Given the description of an element on the screen output the (x, y) to click on. 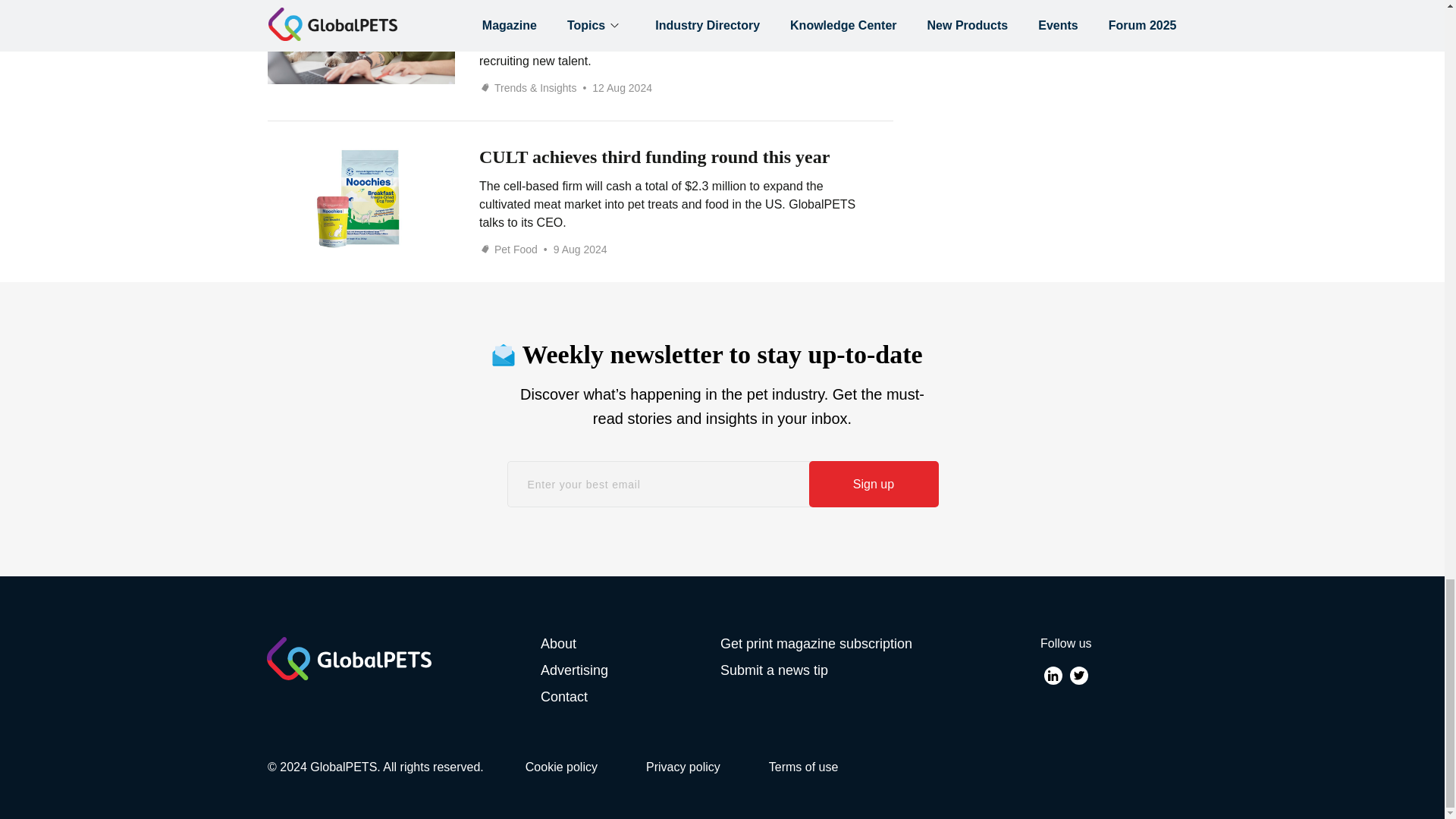
About (630, 643)
Sign up (872, 483)
Get print magazine subscription (816, 643)
